Given the description of an element on the screen output the (x, y) to click on. 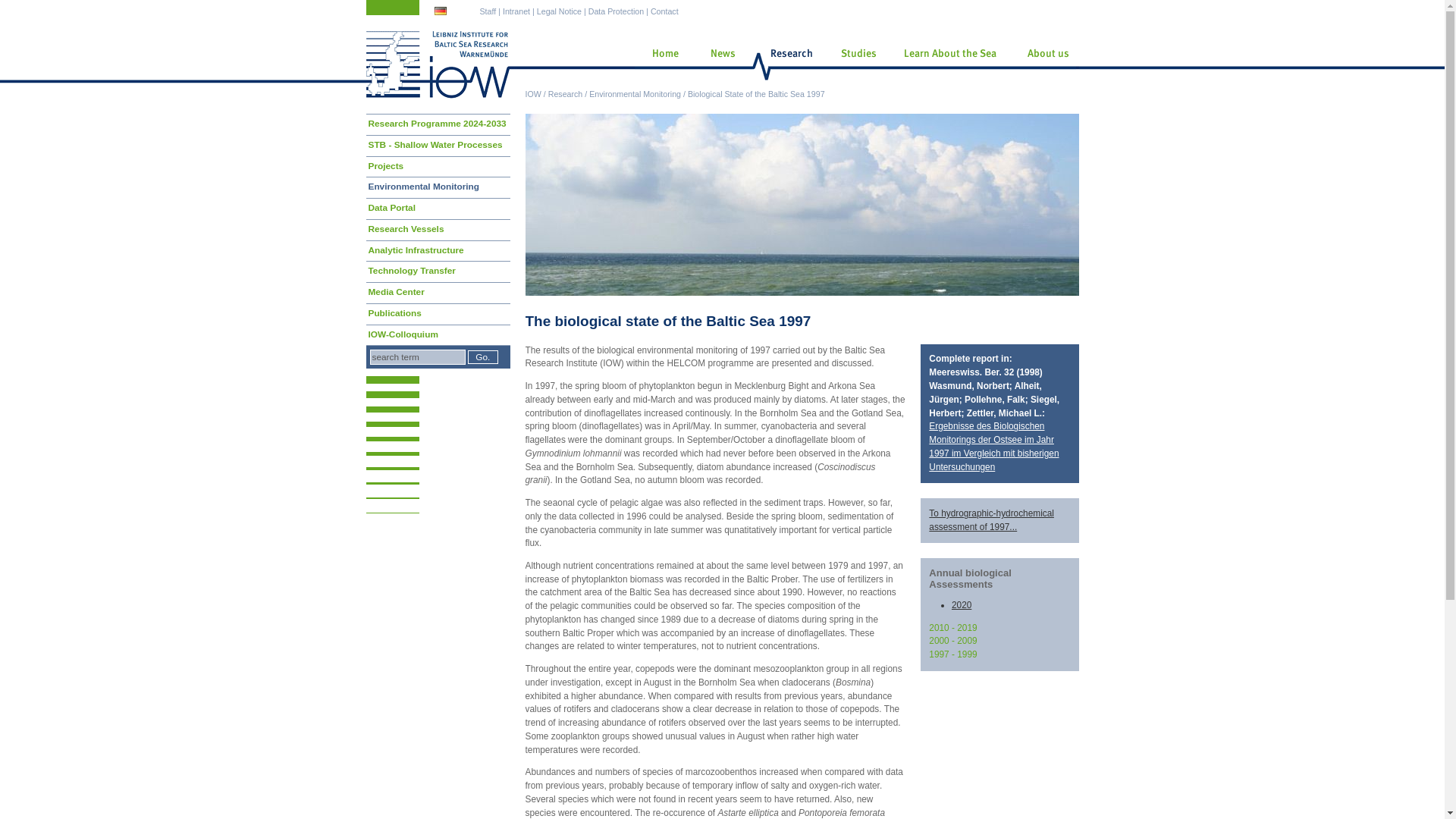
Legal Notice (558, 10)
News (718, 64)
News (718, 64)
Intranet (515, 10)
2020 (961, 604)
Environmental Monitoring (635, 93)
To hydrographic-hydrochemical assessment of 1997... (991, 519)
Go. (482, 356)
Research Programme 2024-2033 (437, 124)
Data Protection Statement (615, 10)
